Given the description of an element on the screen output the (x, y) to click on. 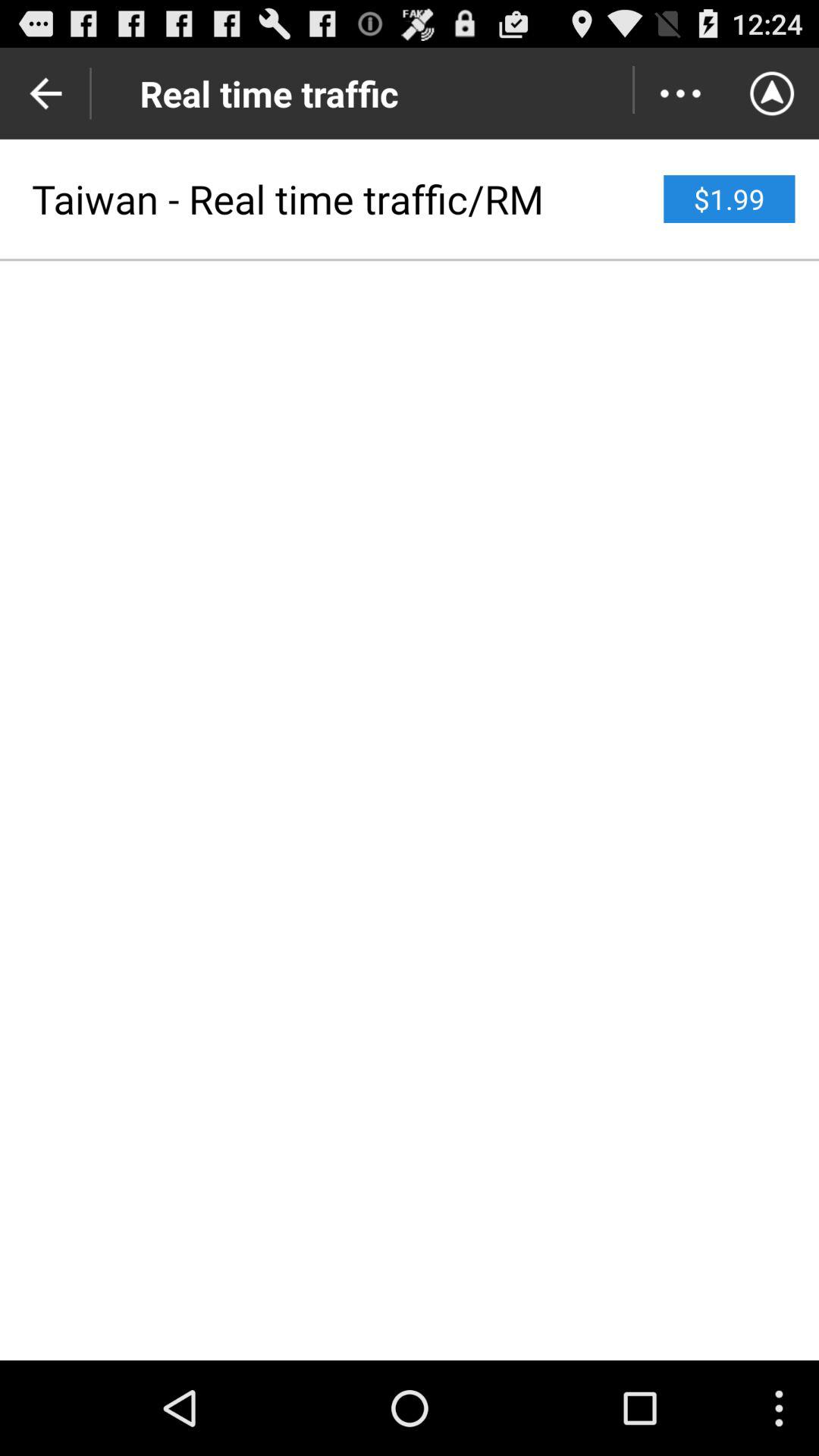
turn off item above taiwan real time app (680, 93)
